Given the description of an element on the screen output the (x, y) to click on. 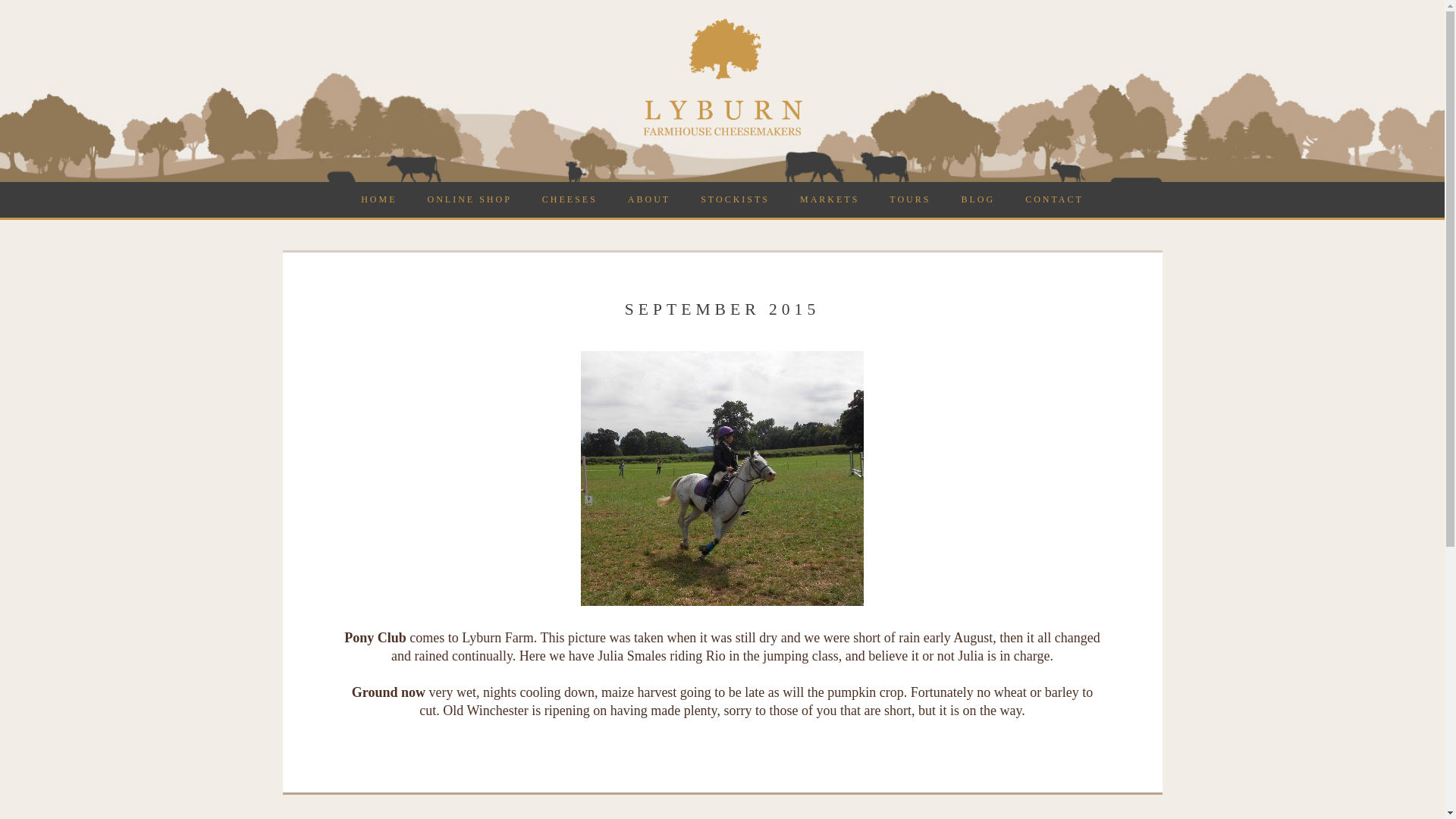
Cheeses (569, 199)
Contact (1054, 199)
ONLINE SHOP (468, 199)
HOME (379, 199)
CONTACT (1054, 199)
MARKETS (829, 199)
Events (829, 199)
BLOG (977, 199)
ABOUT (648, 199)
Lyburn Cheese (722, 132)
CHEESES (569, 199)
Home (379, 199)
STOCKISTS (734, 199)
TOURS (909, 199)
